Given the description of an element on the screen output the (x, y) to click on. 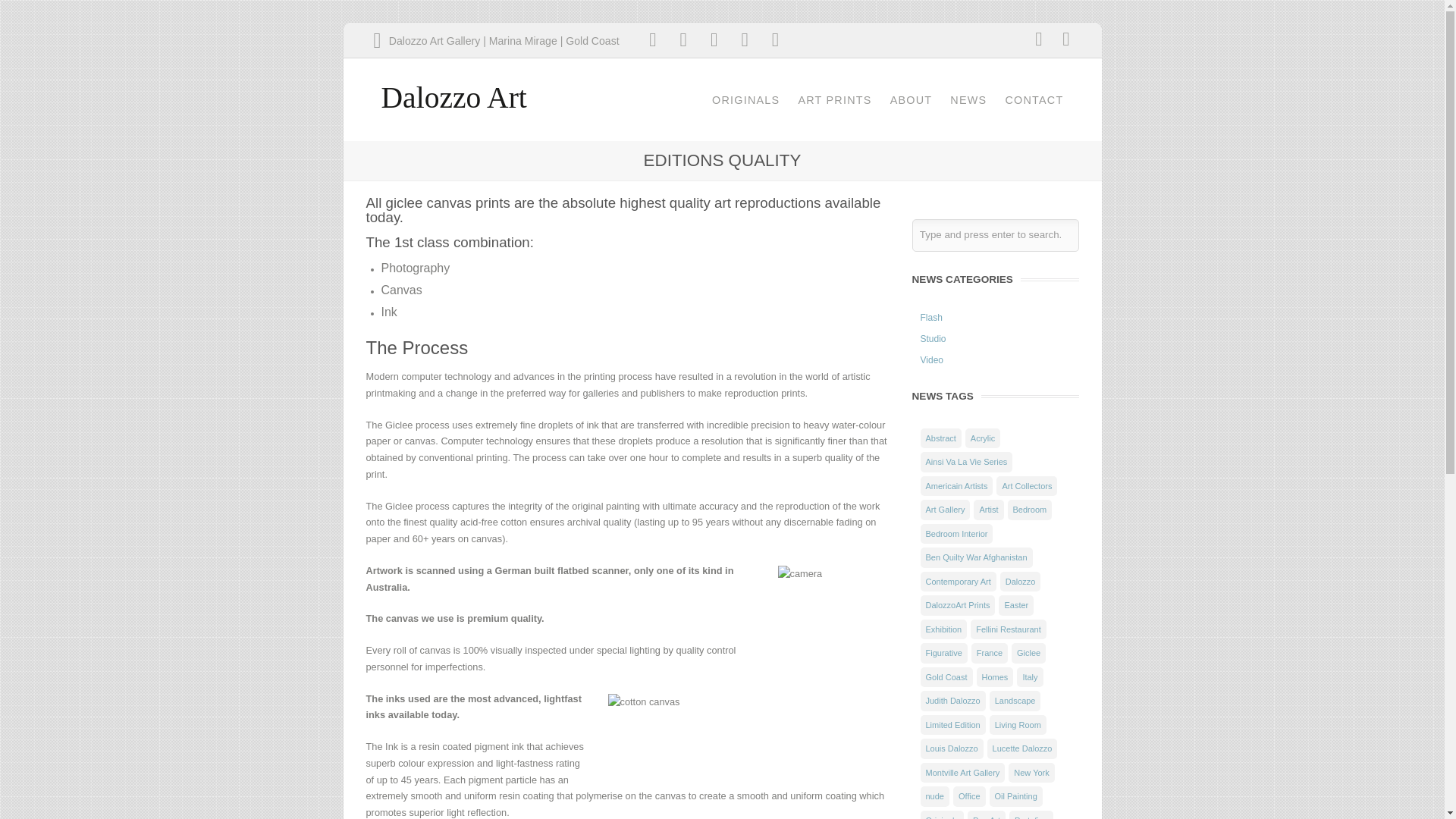
cotton canvas (684, 732)
Type and press enter to search. (994, 235)
Contact (495, 40)
camera (834, 626)
